Given the description of an element on the screen output the (x, y) to click on. 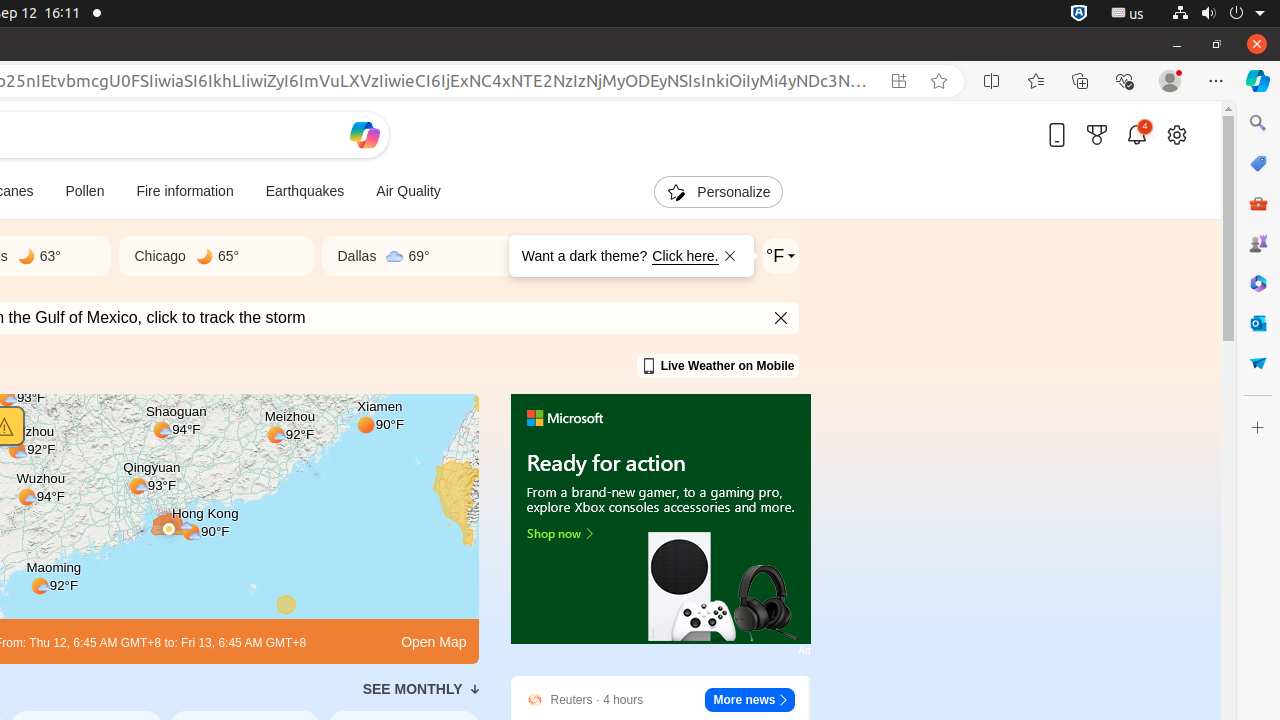
Open settings Element type: push-button (1177, 134)
Microsoft 365 Element type: push-button (1258, 283)
To get missing image descriptions, open the context menu. Element type: link (660, 520)
Microsoft rewards Element type: push-button (1097, 134)
Profile 1 Profile, Please sign in Element type: push-button (1170, 81)
